Given the description of an element on the screen output the (x, y) to click on. 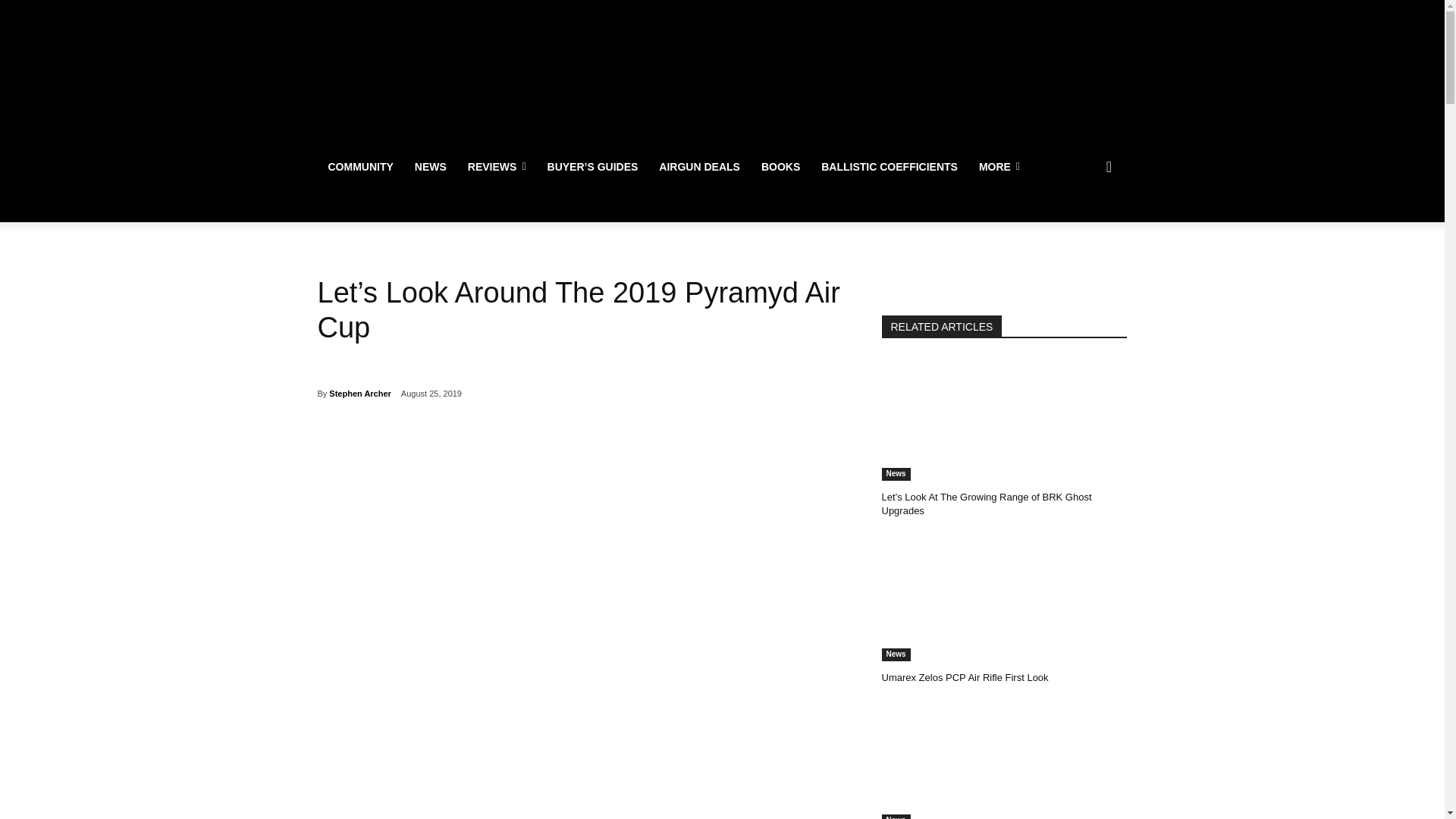
NEWS (430, 166)
Umarex Zelos PCP Air Rifle First Look (1003, 599)
COMMUNITY (360, 166)
Umarex Zelos PCP Air Rifle First Look (964, 677)
The Mid-Range PCP Market Is Exploding At Pyramyd! (1003, 761)
